Given the description of an element on the screen output the (x, y) to click on. 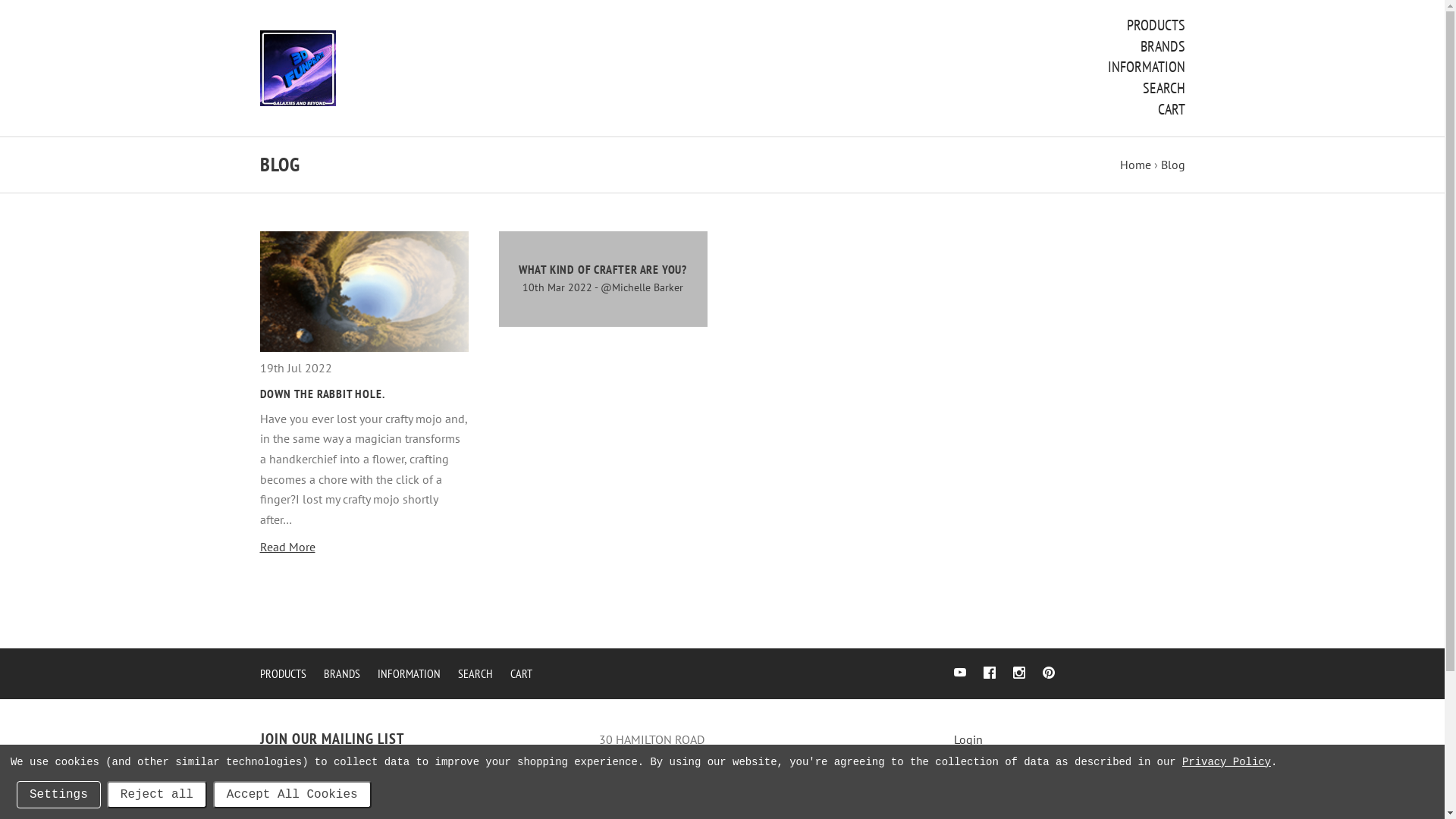
Accept All Cookies Element type: text (292, 794)
BRANDS Element type: text (341, 672)
Settings Element type: text (58, 794)
PRODUCTS Element type: text (1155, 24)
Register Element type: text (974, 758)
PRODUCTS Element type: text (282, 672)
10th Mar 2022 - @Michelle Barker Element type: text (602, 287)
SEARCH Element type: text (1163, 87)
DOWN THE RABBIT HOLE. Element type: text (321, 393)
SEARCH Element type: text (475, 672)
BRANDS Element type: text (1162, 46)
INFORMATION Element type: text (1145, 66)
Reject all Element type: text (156, 794)
CART Element type: text (520, 672)
Blog Element type: text (1172, 164)
Down The Rabbit Hole. Element type: hover (363, 290)
Sitemap Element type: text (974, 794)
INFORMATION Element type: text (408, 672)
Home Element type: text (1134, 164)
Privacy Policy Element type: text (1226, 762)
WHAT KIND OF CRAFTER ARE YOU? Element type: text (602, 268)
Read More Element type: text (286, 546)
Login Element type: text (967, 738)
CART Element type: text (1170, 109)
